Given the description of an element on the screen output the (x, y) to click on. 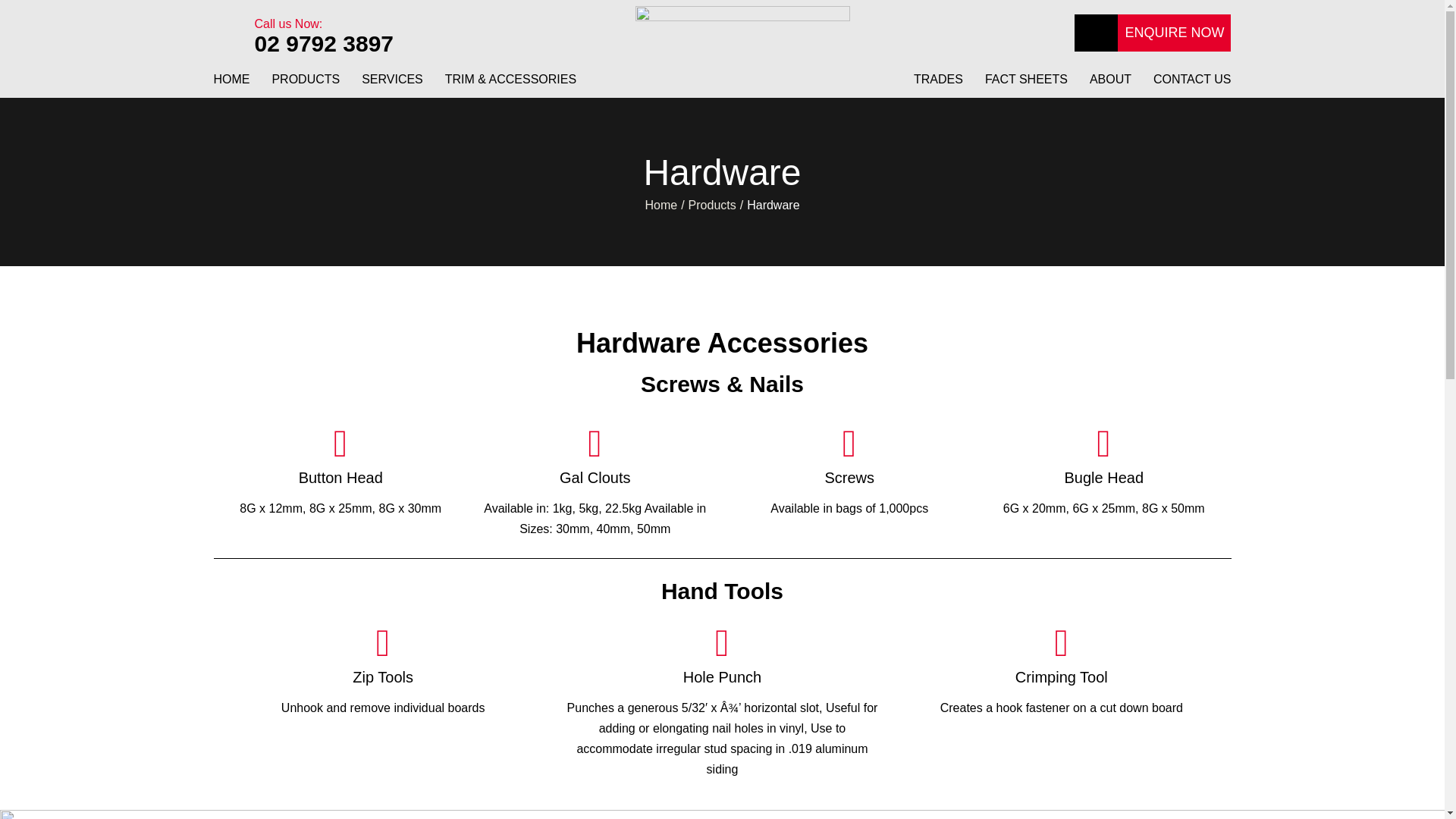
Home Element type: text (660, 205)
FACT SHEETS Element type: text (1026, 84)
PRODUCTS Element type: text (305, 84)
ENQUIRE NOW Element type: text (1172, 32)
CONTACT US Element type: text (1192, 84)
TRIM & ACCESSORIES Element type: text (510, 84)
HOME Element type: text (231, 84)
Products Element type: text (712, 205)
SERVICES Element type: text (392, 84)
02 9792 3897 Element type: text (324, 43)
ABOUT Element type: text (1110, 84)
TRADES Element type: text (938, 84)
